Given the description of an element on the screen output the (x, y) to click on. 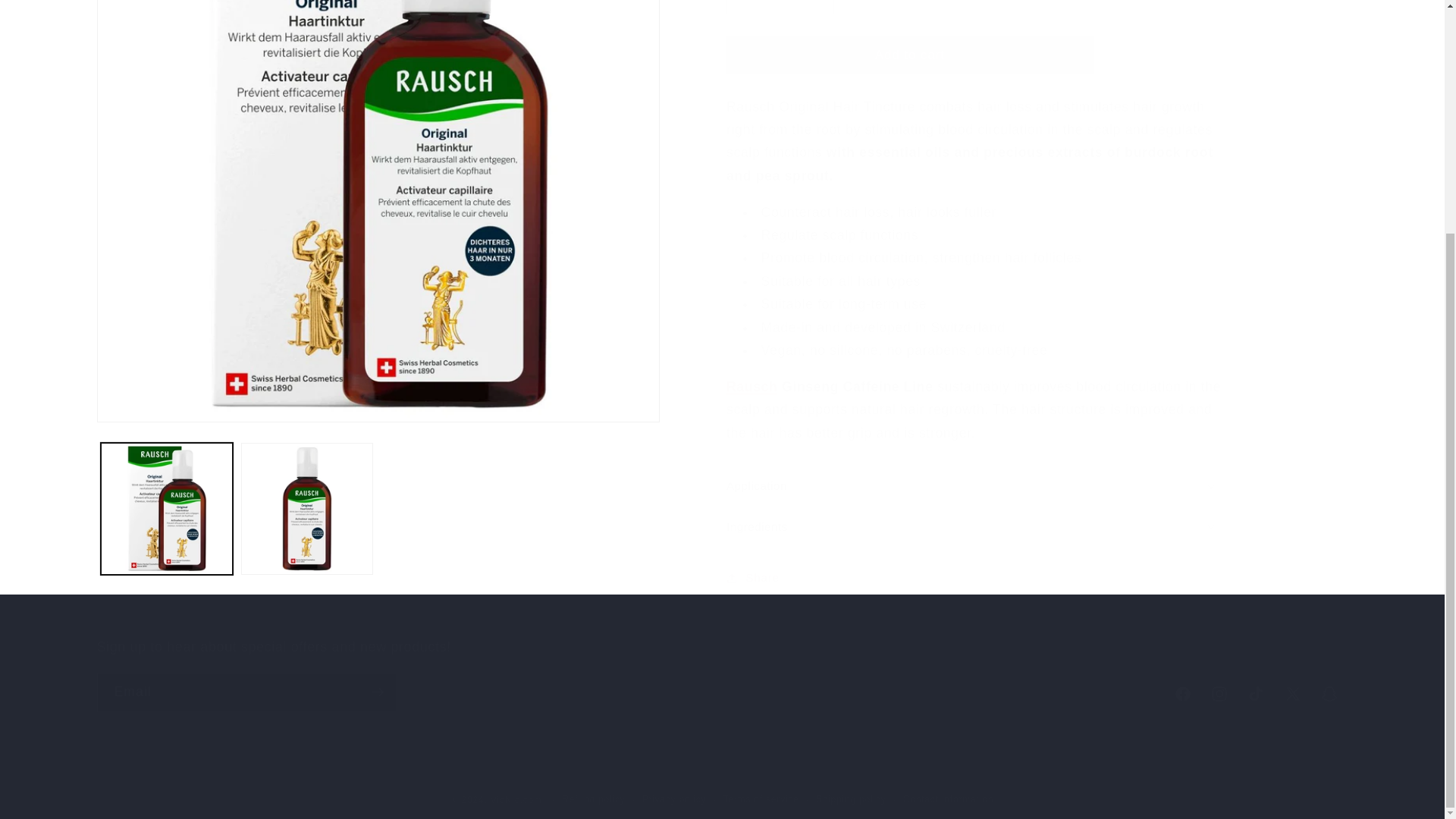
1 (780, 1)
Rausch the power of Swiss herbs (751, 373)
